Given the description of an element on the screen output the (x, y) to click on. 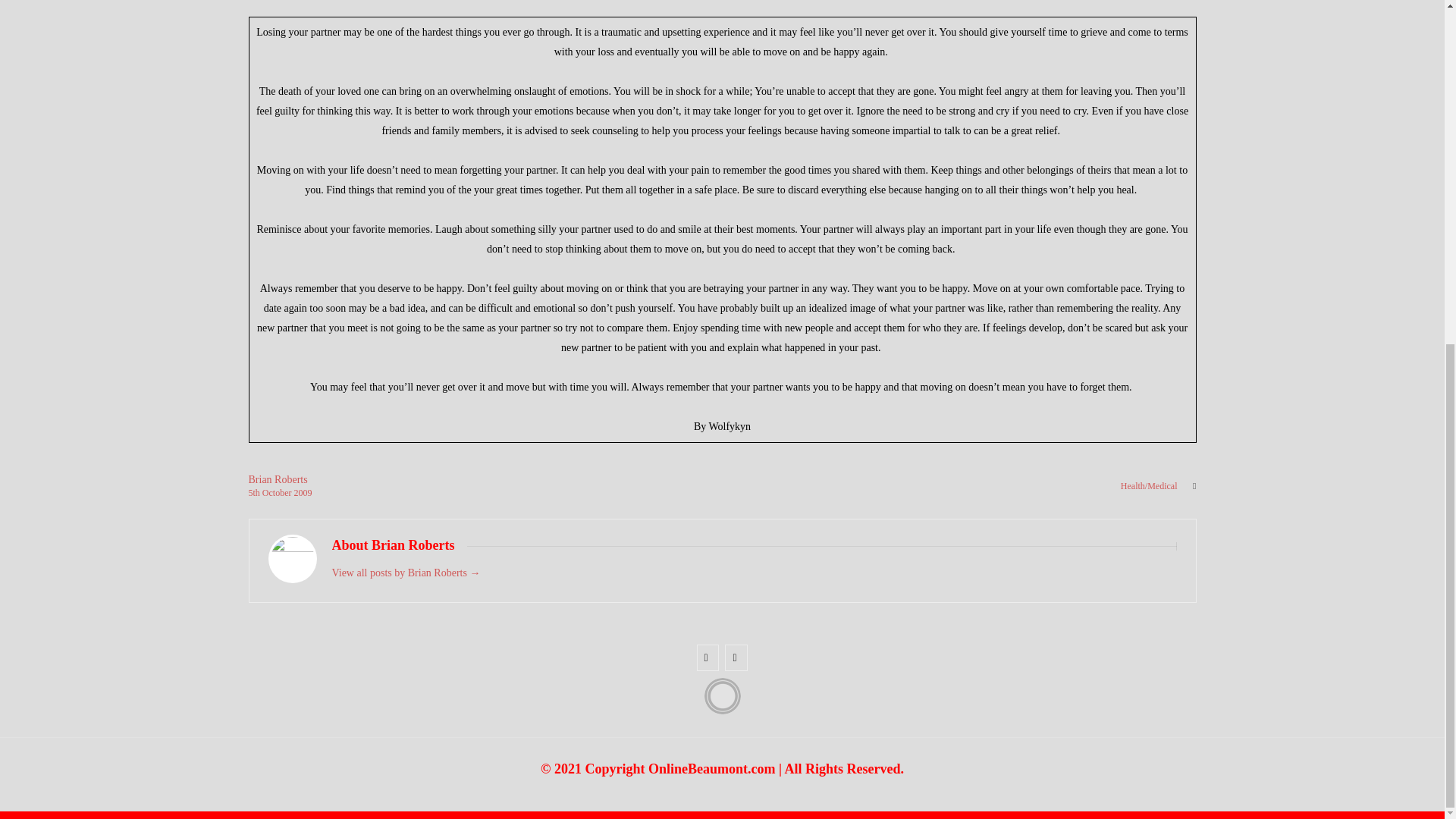
2009 (303, 492)
Brian Roberts (277, 479)
View all posts by Brian Roberts (277, 479)
Link to monthly archives: October (278, 492)
October (278, 492)
Link to daily archives: October 5, 2009 (255, 492)
Link to yearly archives: 2009 (303, 492)
5th (255, 492)
